Given the description of an element on the screen output the (x, y) to click on. 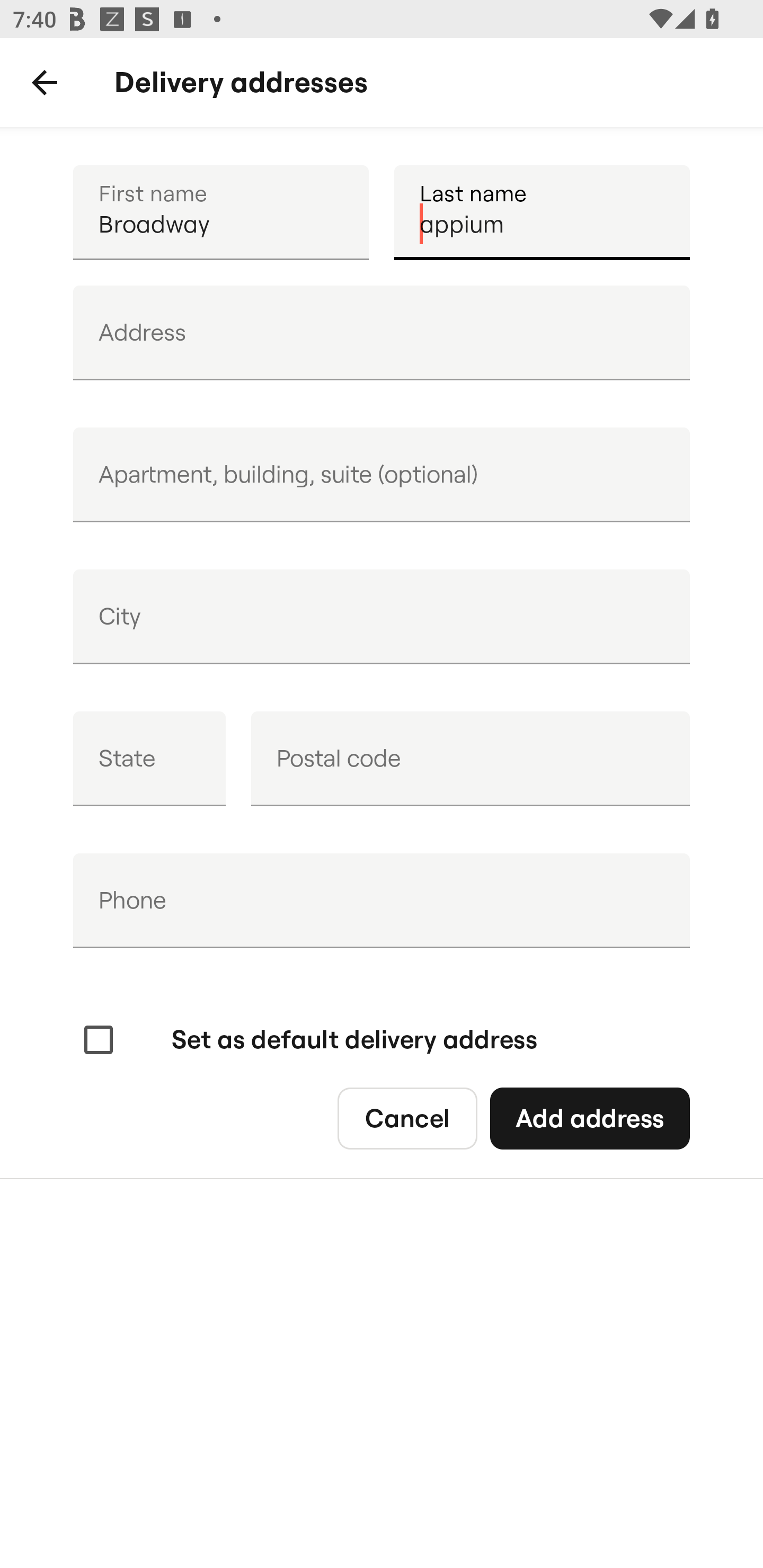
Back (44, 82)
Broadway (220, 212)
appium (541, 212)
Address (381, 333)
Apartment, building, suite (optional) (381, 475)
City (381, 616)
State (149, 758)
Postal code (470, 758)
Phone (381, 900)
Set as default delivery address (308, 1039)
Cancel (407, 1118)
Add address (589, 1118)
